Given the description of an element on the screen output the (x, y) to click on. 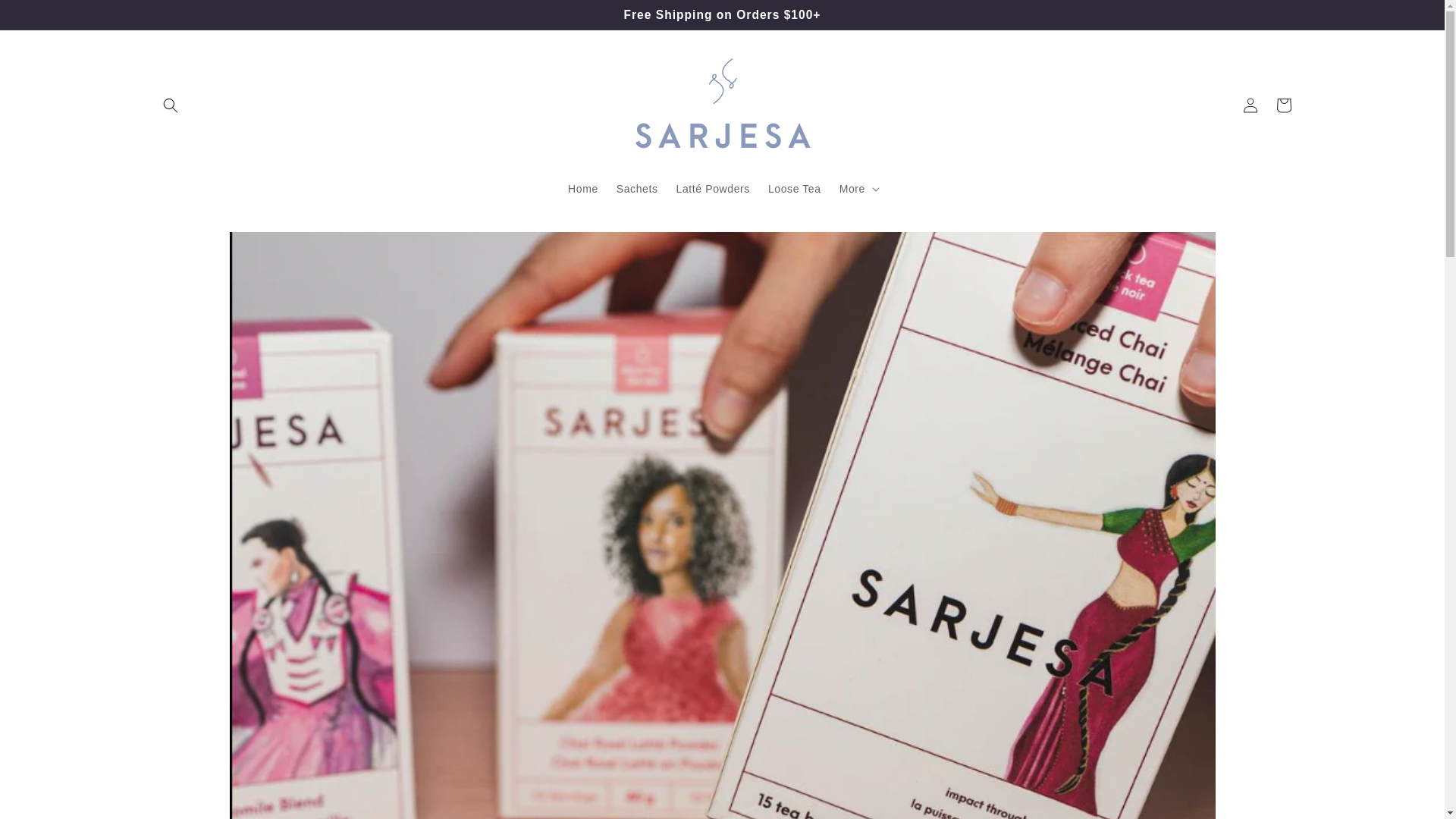
Skip to content (45, 17)
Cart (1283, 105)
Home (583, 188)
Sachets (636, 188)
Log in (1249, 105)
Loose Tea (793, 188)
